Given the description of an element on the screen output the (x, y) to click on. 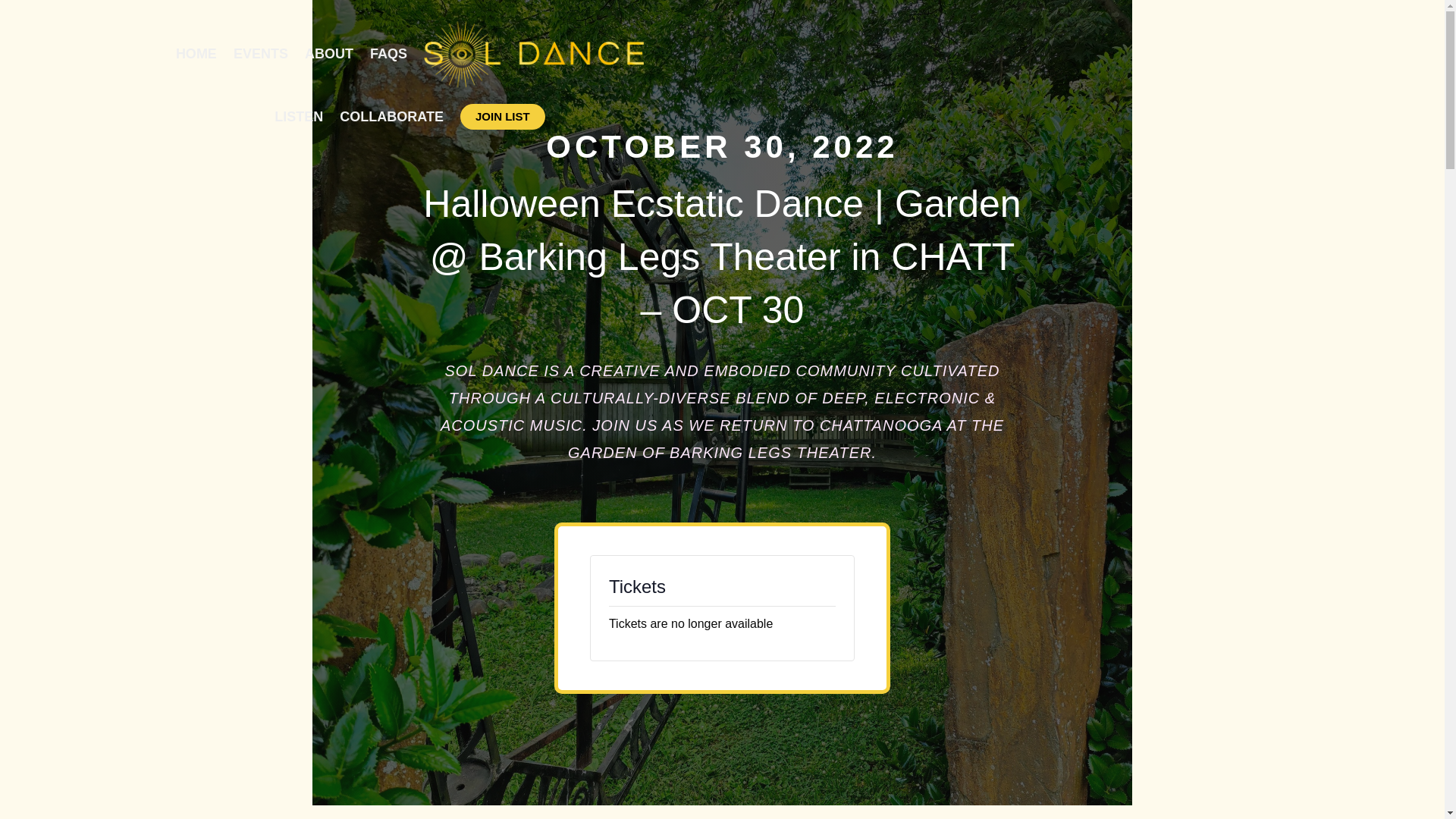
JOIN LIST (502, 116)
COLLABORATE (391, 116)
